Given the description of an element on the screen output the (x, y) to click on. 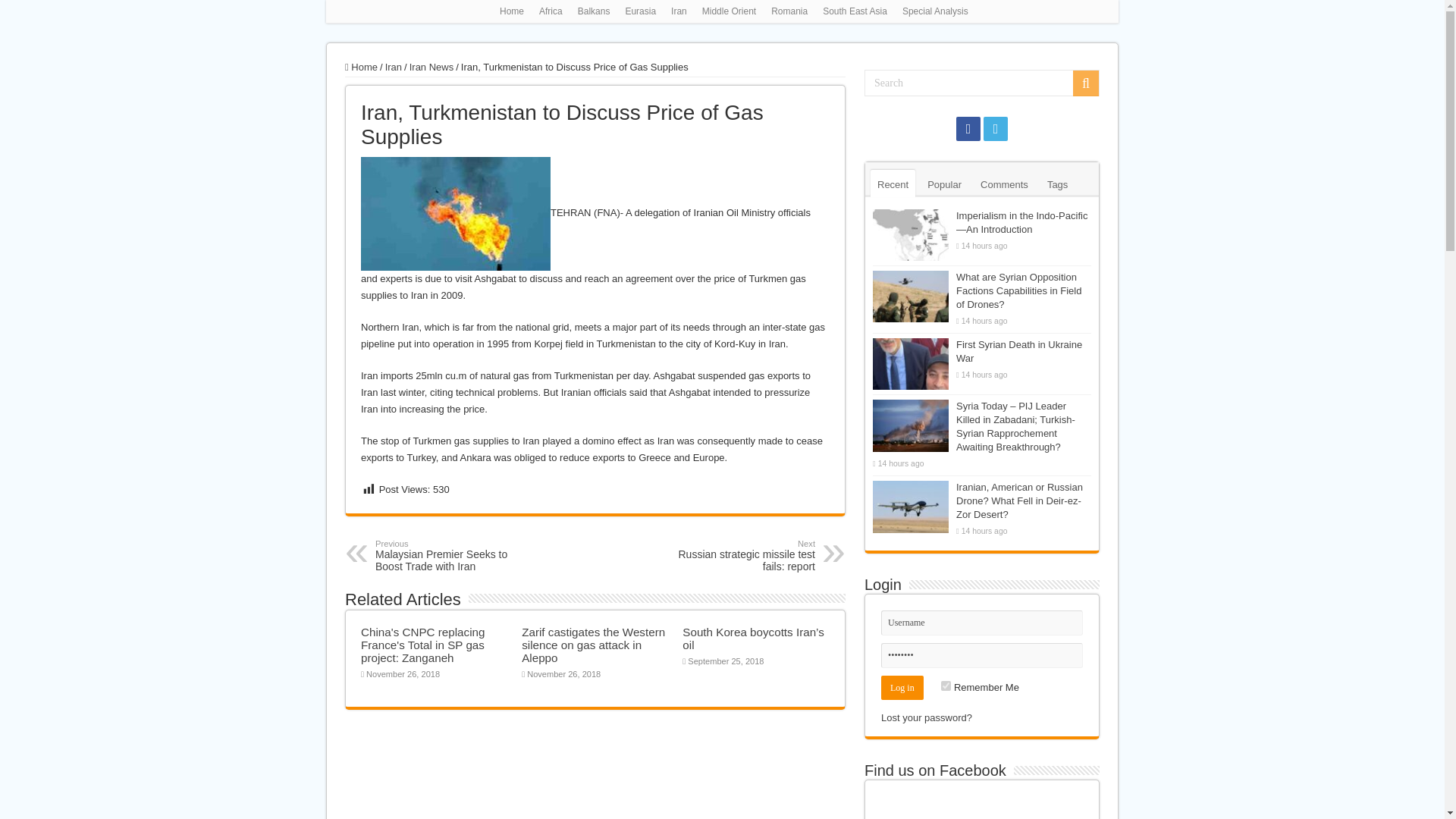
Iran (737, 555)
a04636954 (393, 66)
Zarif castigates the Western silence on gas attack in Aleppo (455, 214)
Search (593, 644)
Eurasia (1086, 83)
Romania (640, 11)
Recent (788, 11)
Middle Orient (892, 183)
Africa (728, 11)
